Given the description of an element on the screen output the (x, y) to click on. 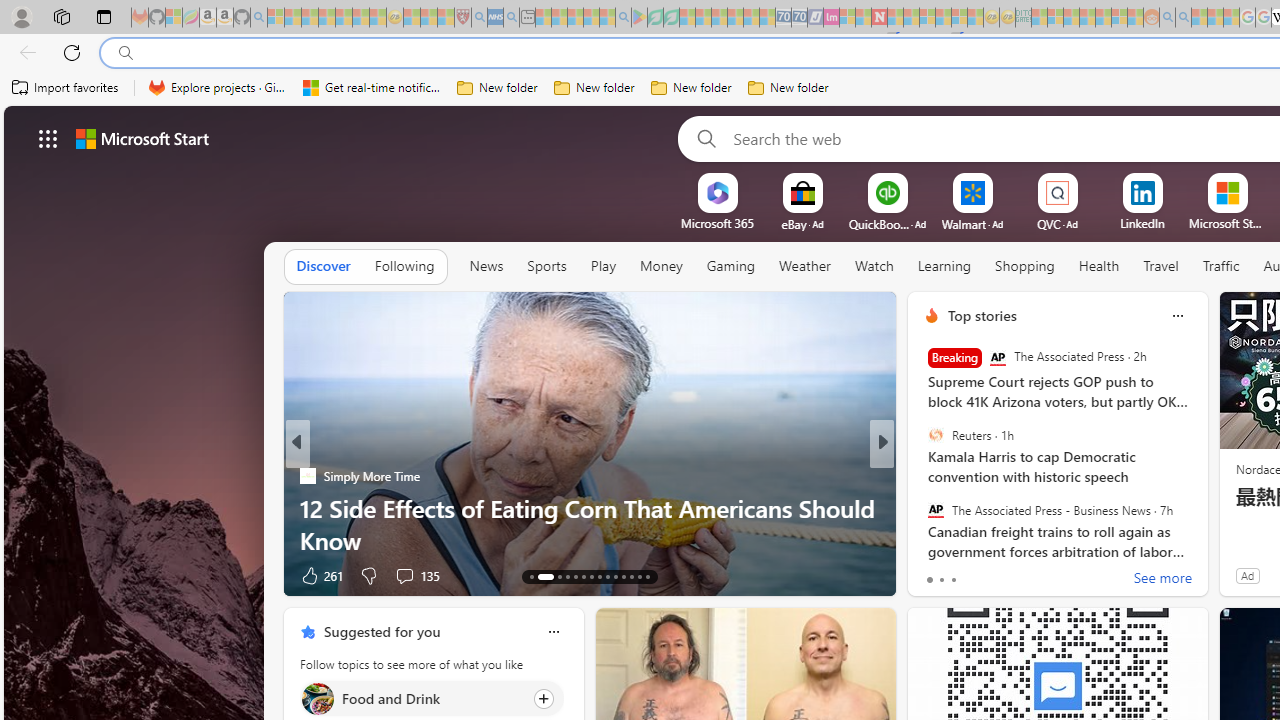
View comments 6 Comment (1019, 574)
XDA Developers (923, 507)
View comments 84 Comment (1029, 574)
Eggs All Ways (923, 507)
utah sues federal government - Search - Sleeping (511, 17)
AutomationID: tab-24 (631, 576)
INSIDER (923, 475)
